Given the description of an element on the screen output the (x, y) to click on. 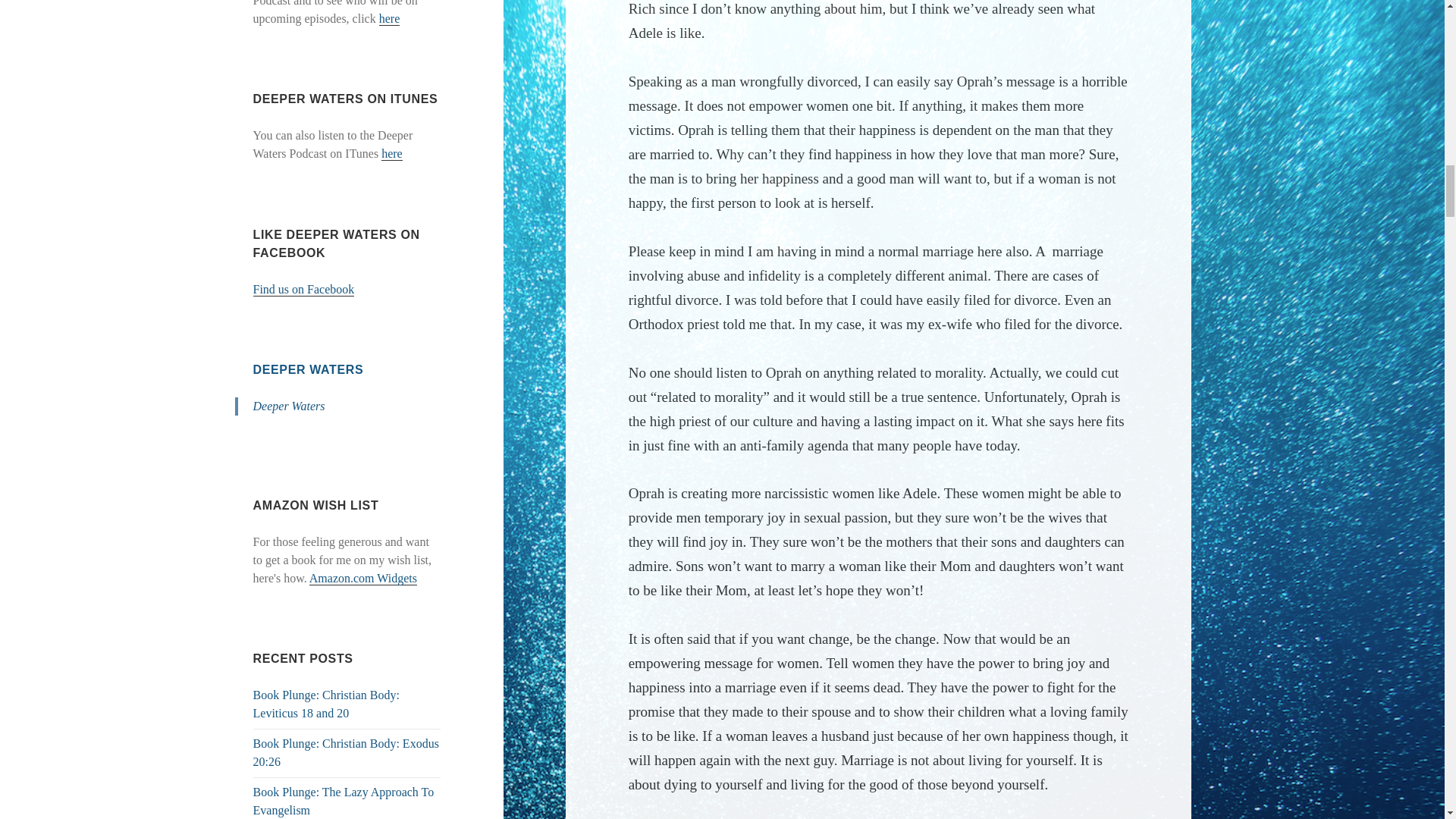
Book Plunge: Christian Body: Leviticus 18 and 20 (325, 703)
Deeper Waters (288, 405)
Find us on Facebook (304, 289)
Book Plunge: The Lazy Approach To Evangelism (343, 800)
Amazon.com Widgets (362, 578)
DEEPER WATERS (308, 369)
here (392, 153)
here (389, 18)
Book Plunge: Christian Body: Exodus 20:26 (346, 752)
